Given the description of an element on the screen output the (x, y) to click on. 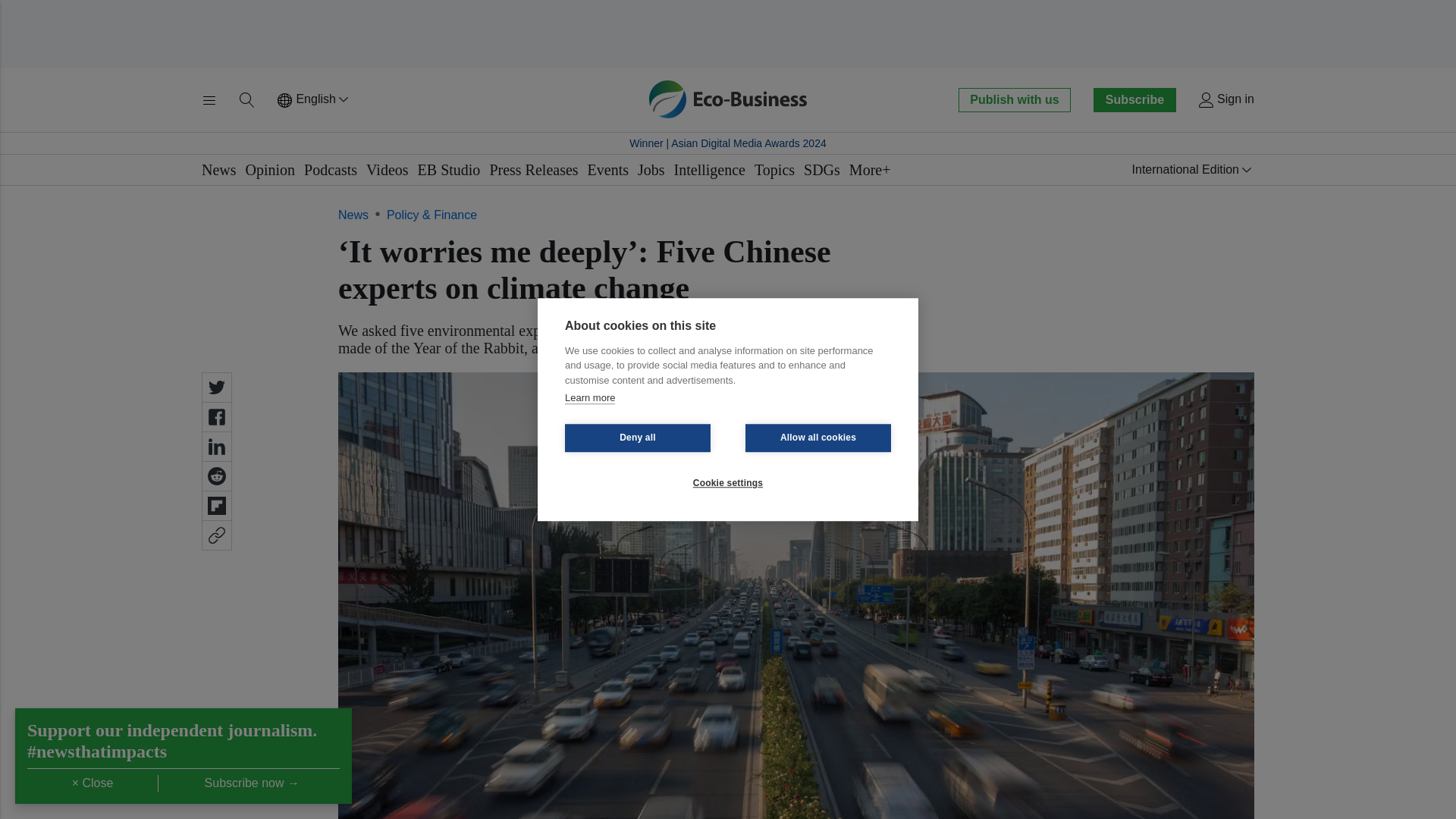
Deny all (637, 438)
Toggle search (247, 99)
Sign in (1225, 99)
Share on Facebook (216, 417)
Allow all cookies (818, 438)
3rd party ad content (727, 33)
Sign in or sign up (1225, 99)
Cookie settings (727, 482)
Learn more (589, 398)
News (218, 169)
Menu (209, 99)
Subscribe (1133, 99)
English (314, 99)
Go to the Eco-Business homepage (727, 99)
Publish with us (1014, 99)
